Given the description of an element on the screen output the (x, y) to click on. 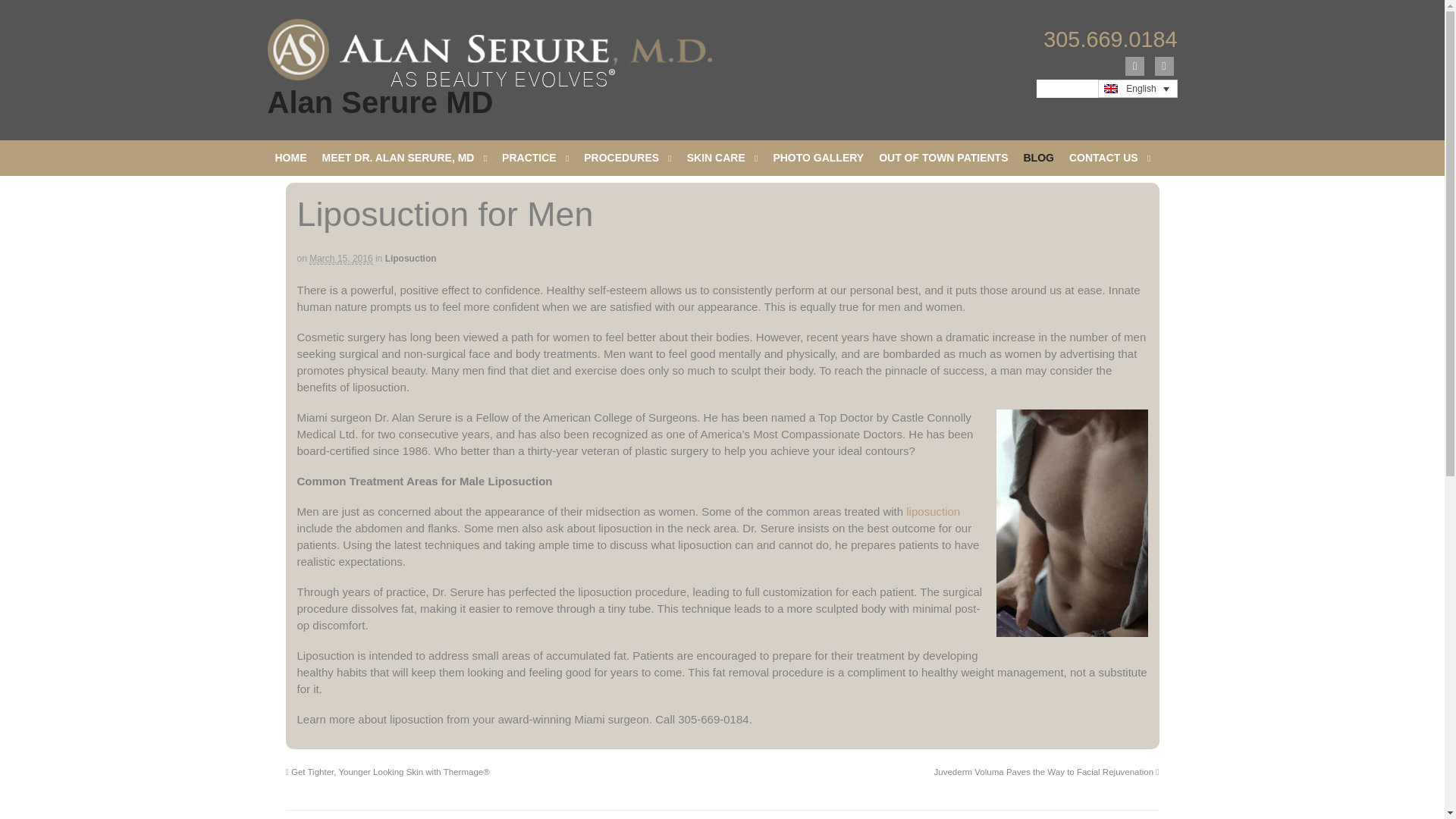
View all items in Liposuction (410, 258)
MEET DR. ALAN SERURE, MD (404, 158)
Alan Serure MD (379, 101)
English (1110, 88)
2016-03-15T10:06:08-0400 (340, 258)
HOME (290, 158)
305.669.0184 (1109, 39)
English (1137, 88)
PROCEDURES (627, 158)
PRACTICE (535, 158)
